Given the description of an element on the screen output the (x, y) to click on. 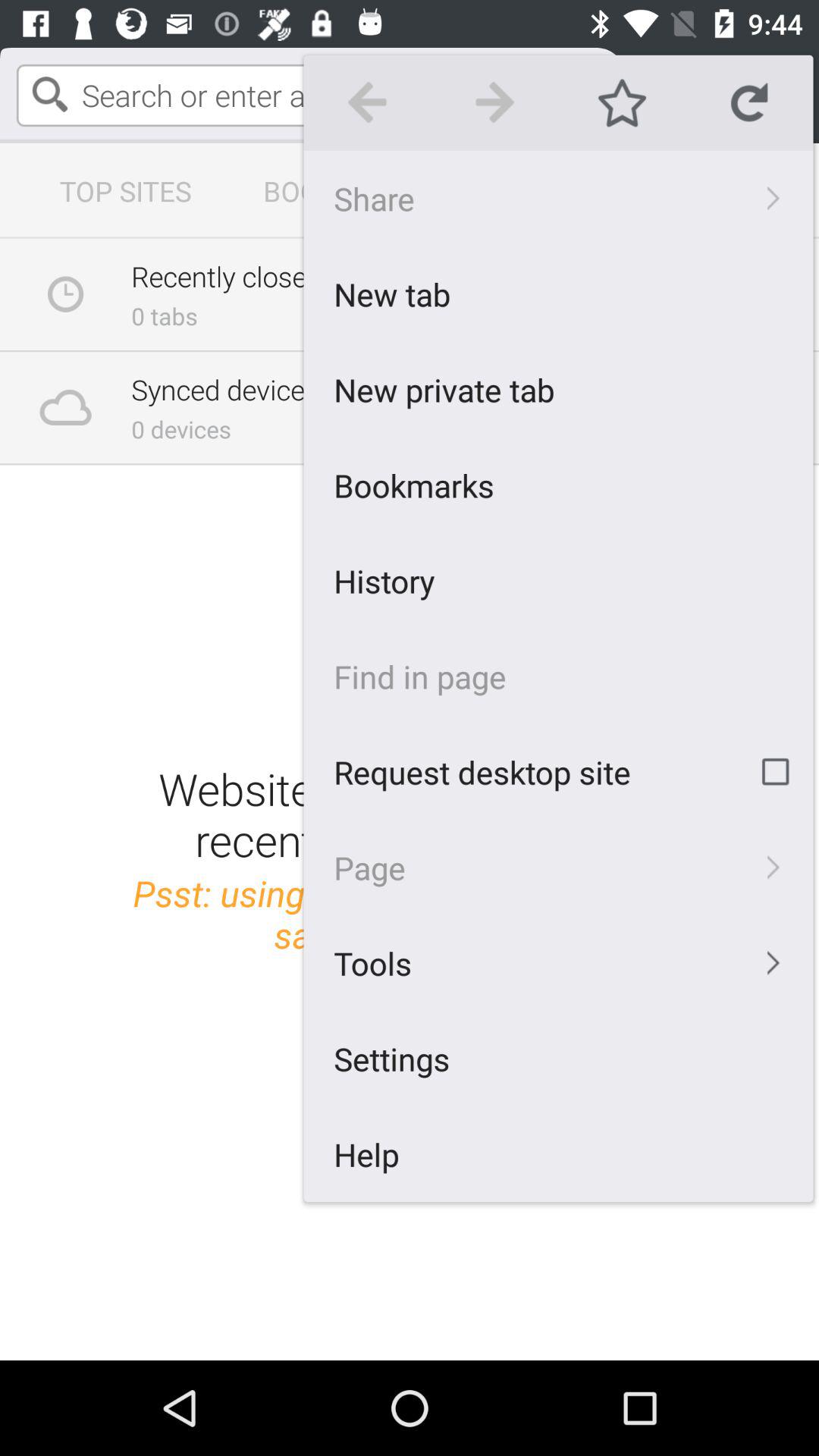
select item above the share (749, 102)
